Given the description of an element on the screen output the (x, y) to click on. 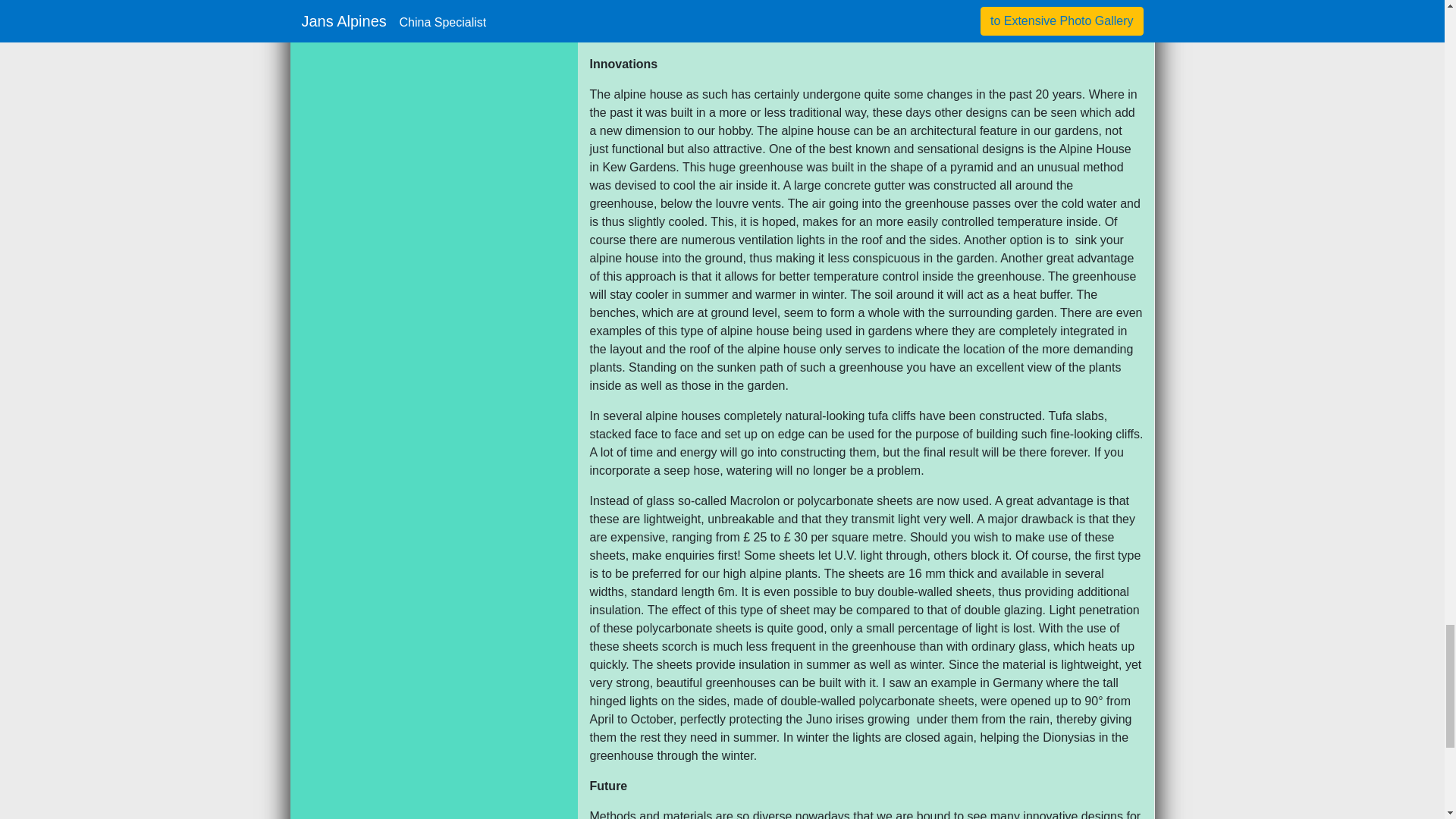
Callianthemum anemonoides (726, 18)
